Given the description of an element on the screen output the (x, y) to click on. 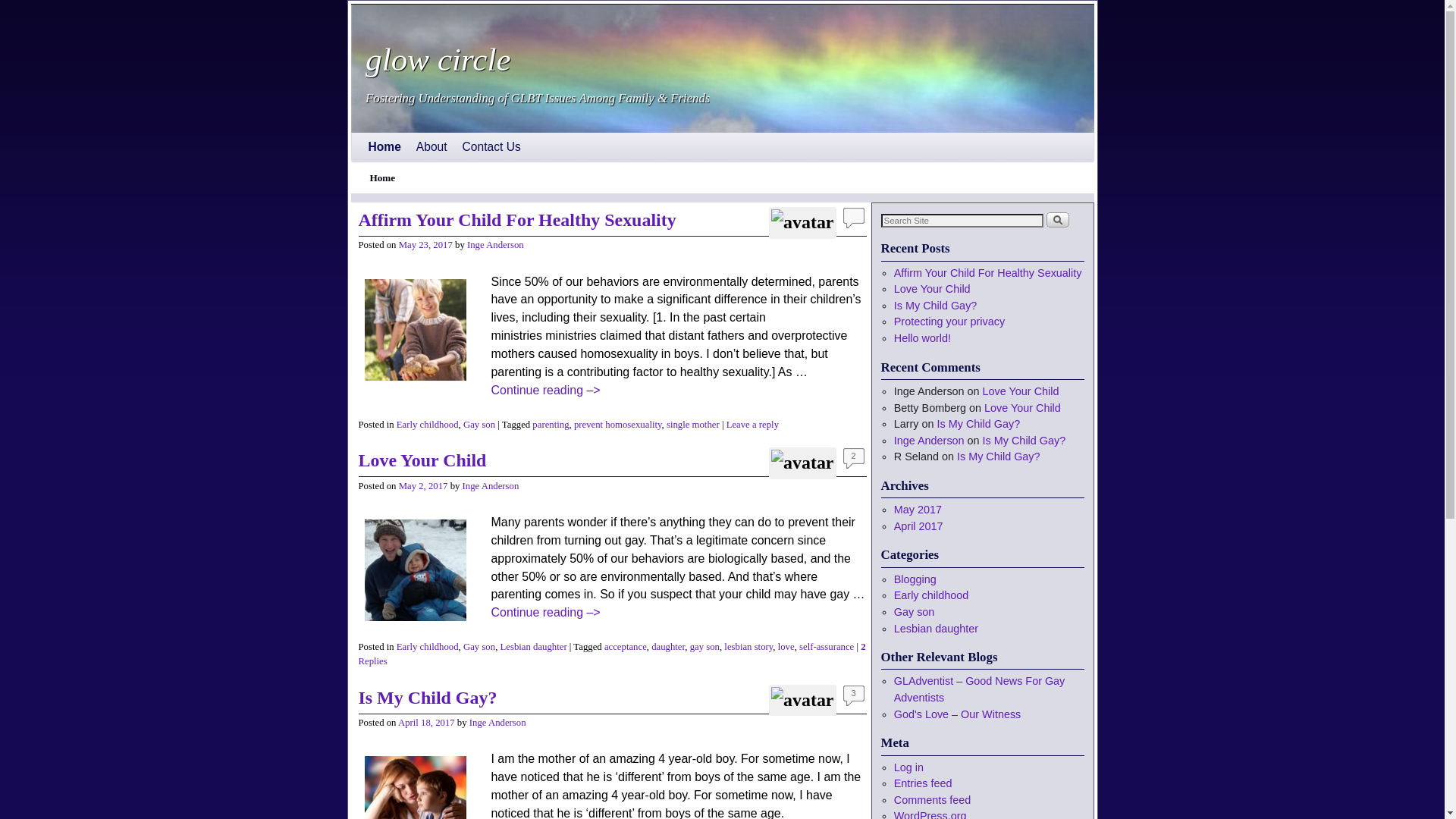
Protecting your privacy Element type: text (949, 321)
Is My Child Gay? Element type: text (978, 423)
Inge Anderson Element type: text (490, 485)
Lesbian daughter Element type: text (936, 628)
3 Element type: text (853, 695)
lesbian story Element type: text (748, 646)
About Element type: text (431, 146)
April 2017 Element type: text (918, 526)
Early childhood Element type: text (427, 646)
Skip to primary content Element type: text (396, 139)
Inge Anderson Element type: text (495, 244)
Is My Child Gay? Element type: text (998, 456)
May 2, 2017 Element type: text (423, 485)
2 Replies Element type: text (611, 653)
Affirm Your Child For Healthy Sexuality Element type: text (516, 219)
Comments feed Element type: text (932, 799)
Early childhood Element type: text (427, 424)
love Element type: text (786, 646)
Affirm Your Child For Healthy Sexuality Element type: text (988, 272)
Gay son Element type: text (479, 424)
2 Element type: text (853, 458)
Entries feed Element type: text (923, 783)
Is My Child Gay? Element type: text (426, 697)
parenting Element type: text (550, 424)
gay son Element type: text (704, 646)
Gay son Element type: text (914, 611)
Skip to secondary content Element type: text (402, 139)
Contact Us Element type: text (491, 146)
Is My Child Gay? Element type: text (1024, 440)
Inge Anderson Element type: text (497, 722)
Early childhood Element type: text (931, 595)
Leave a reply Element type: text (752, 424)
Hello world! Element type: text (922, 338)
acceptance Element type: text (625, 646)
May 2017 Element type: text (917, 509)
Home Element type: text (384, 146)
May 23, 2017 Element type: text (425, 244)
Love Your Child Element type: text (1020, 391)
Love Your Child Element type: text (932, 288)
Love Your Child Element type: text (1022, 407)
single mother Element type: text (692, 424)
Blogging Element type: text (915, 579)
Love Your Child Element type: text (421, 460)
self-assurance Element type: text (826, 646)
daughter Element type: text (667, 646)
Lesbian daughter Element type: text (533, 646)
April 18, 2017 Element type: text (426, 722)
Log in Element type: text (908, 767)
Inge Anderson Element type: text (929, 440)
Is My Child Gay? Element type: text (935, 305)
Glow Circle Element type: hover (721, 68)
glow circle Element type: text (438, 59)
prevent homosexuality Element type: text (618, 424)
Gay son Element type: text (479, 646)
